Given the description of an element on the screen output the (x, y) to click on. 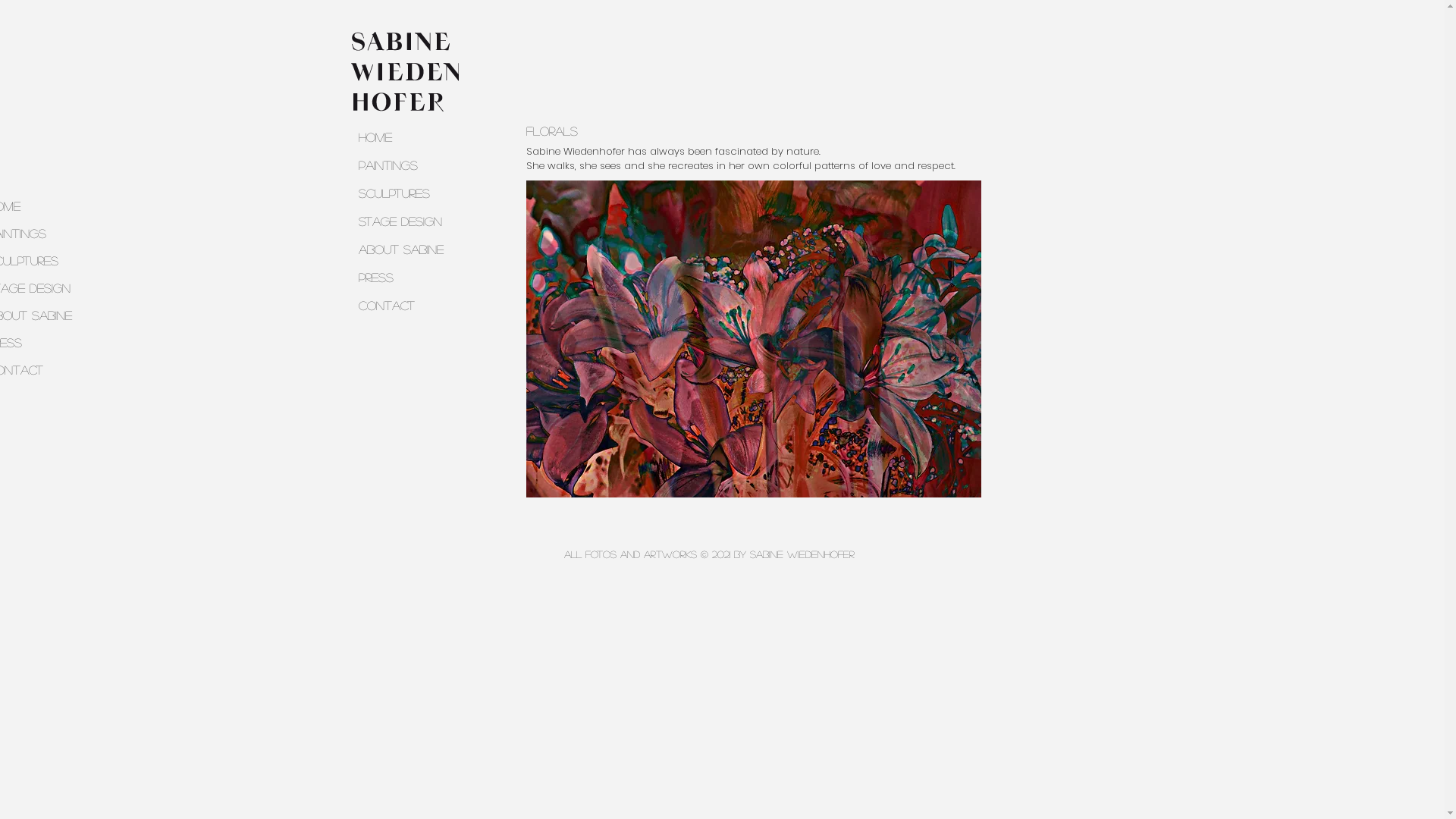
Stage Design Element type: text (416, 221)
Contact Element type: text (416, 305)
About Sabine Element type: text (416, 249)
Home Element type: text (416, 136)
Paintings Element type: text (416, 164)
Press Element type: text (416, 277)
Sculptures Element type: text (416, 192)
